Given the description of an element on the screen output the (x, y) to click on. 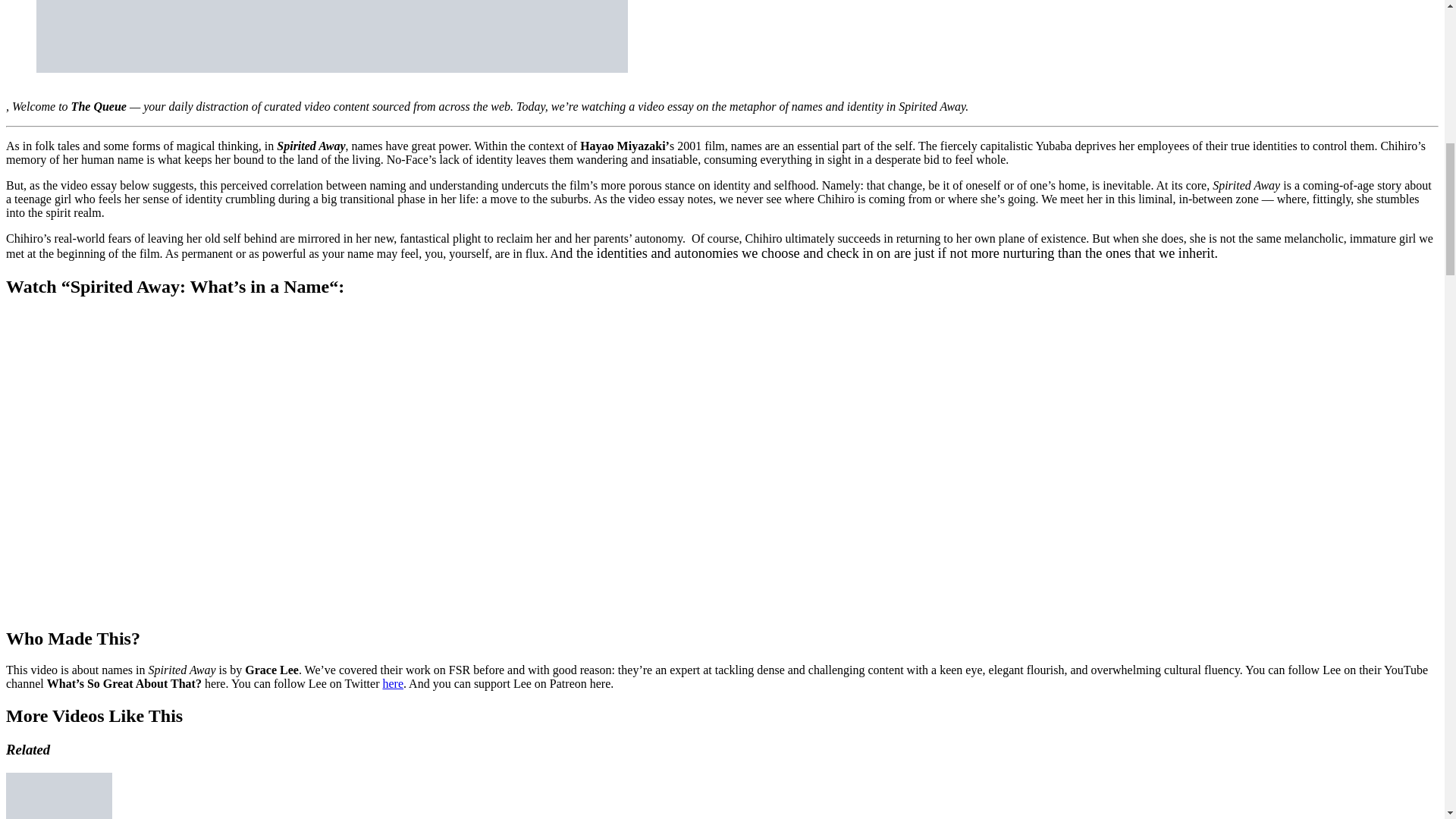
here (392, 683)
